Given the description of an element on the screen output the (x, y) to click on. 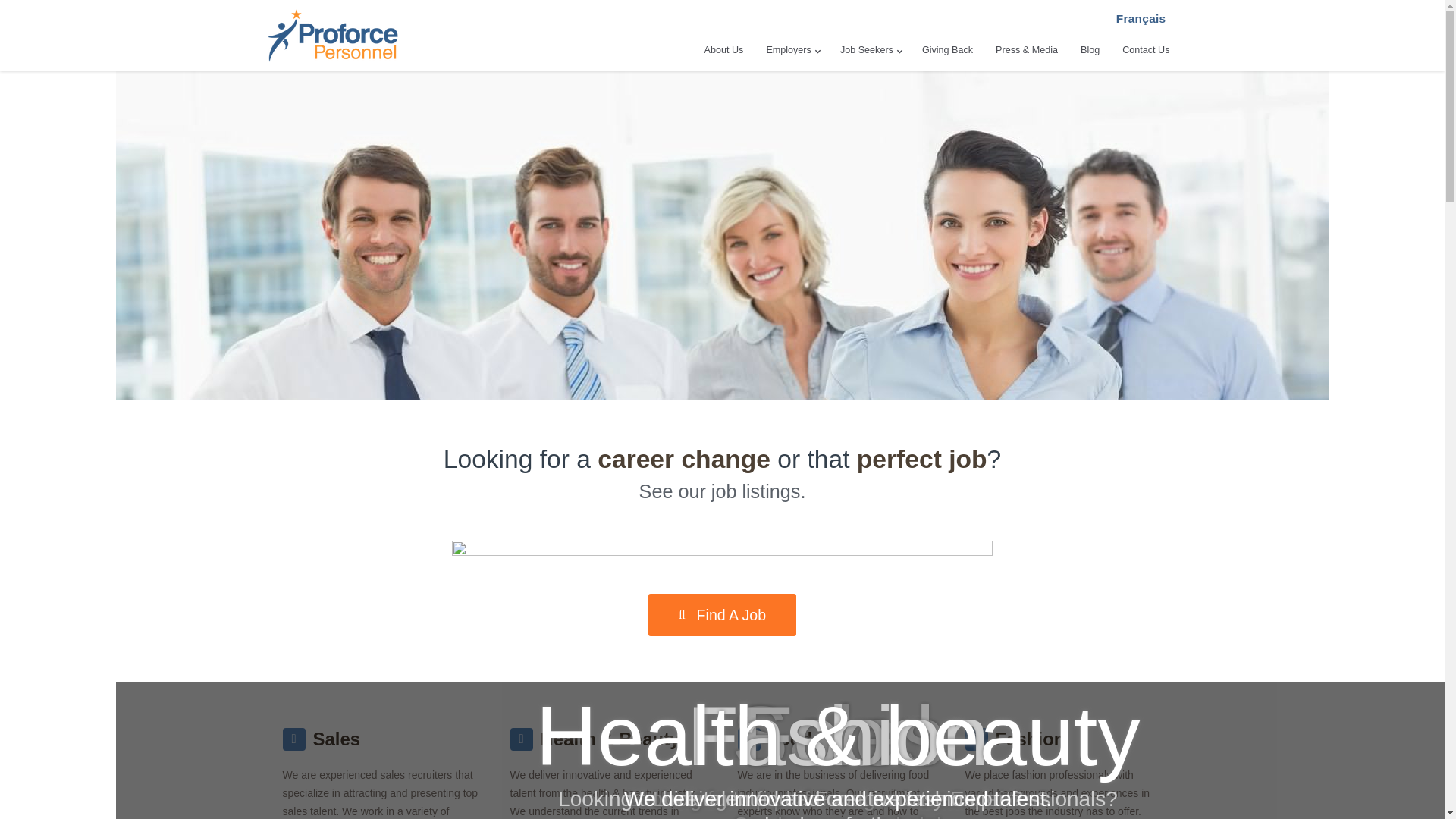
Contact Us (1145, 50)
Sales (336, 738)
About Us (723, 50)
Blog (1089, 50)
Fashion (1029, 738)
Job Seekers (869, 50)
Find A Job (721, 614)
Employers (792, 50)
Food (789, 738)
Giving Back (946, 50)
